Given the description of an element on the screen output the (x, y) to click on. 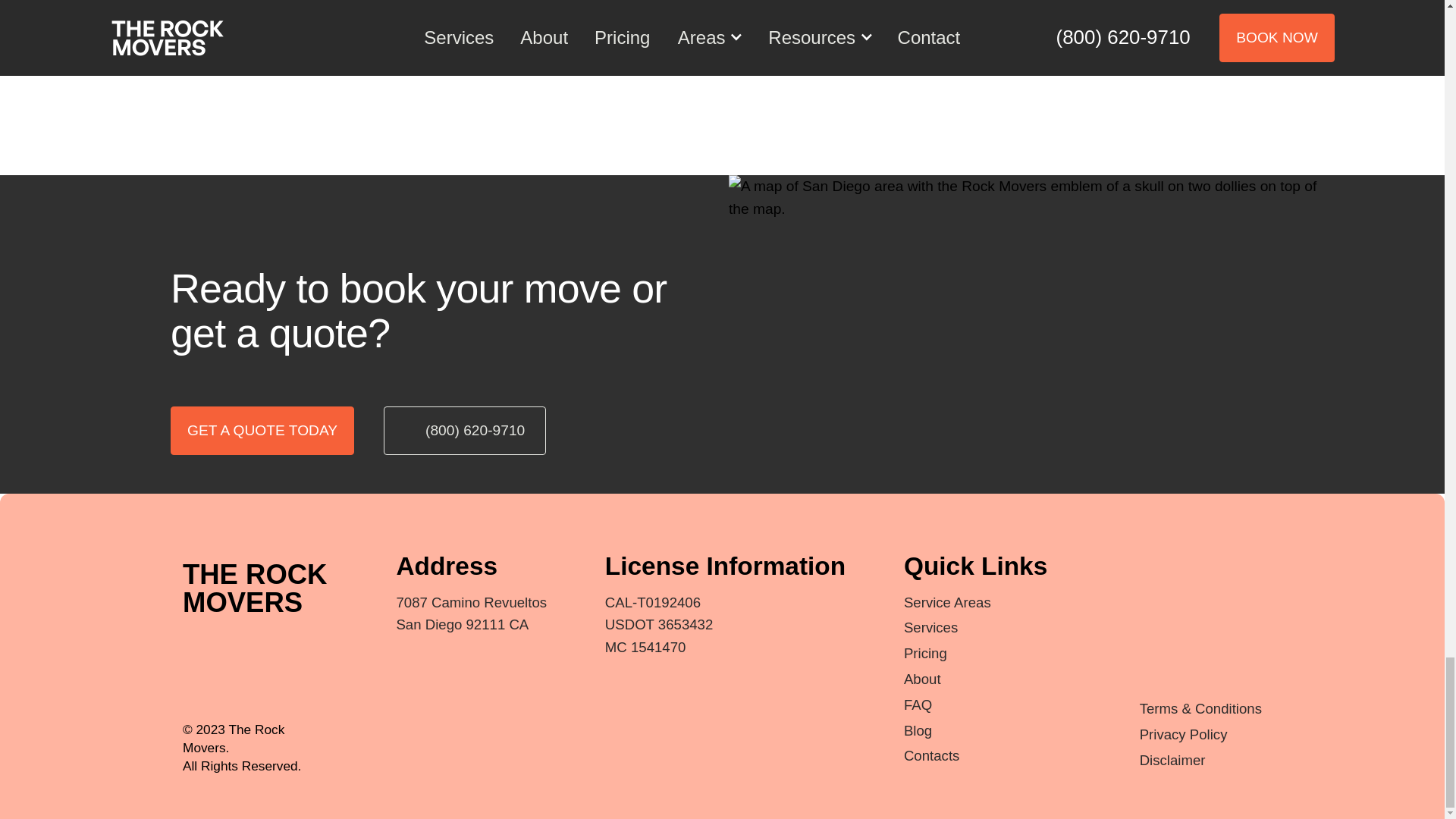
GET A QUOTE TODAY (261, 430)
Service Areas (947, 602)
Pricing (925, 652)
About (922, 678)
Services (931, 627)
FAQ (917, 704)
